Given the description of an element on the screen output the (x, y) to click on. 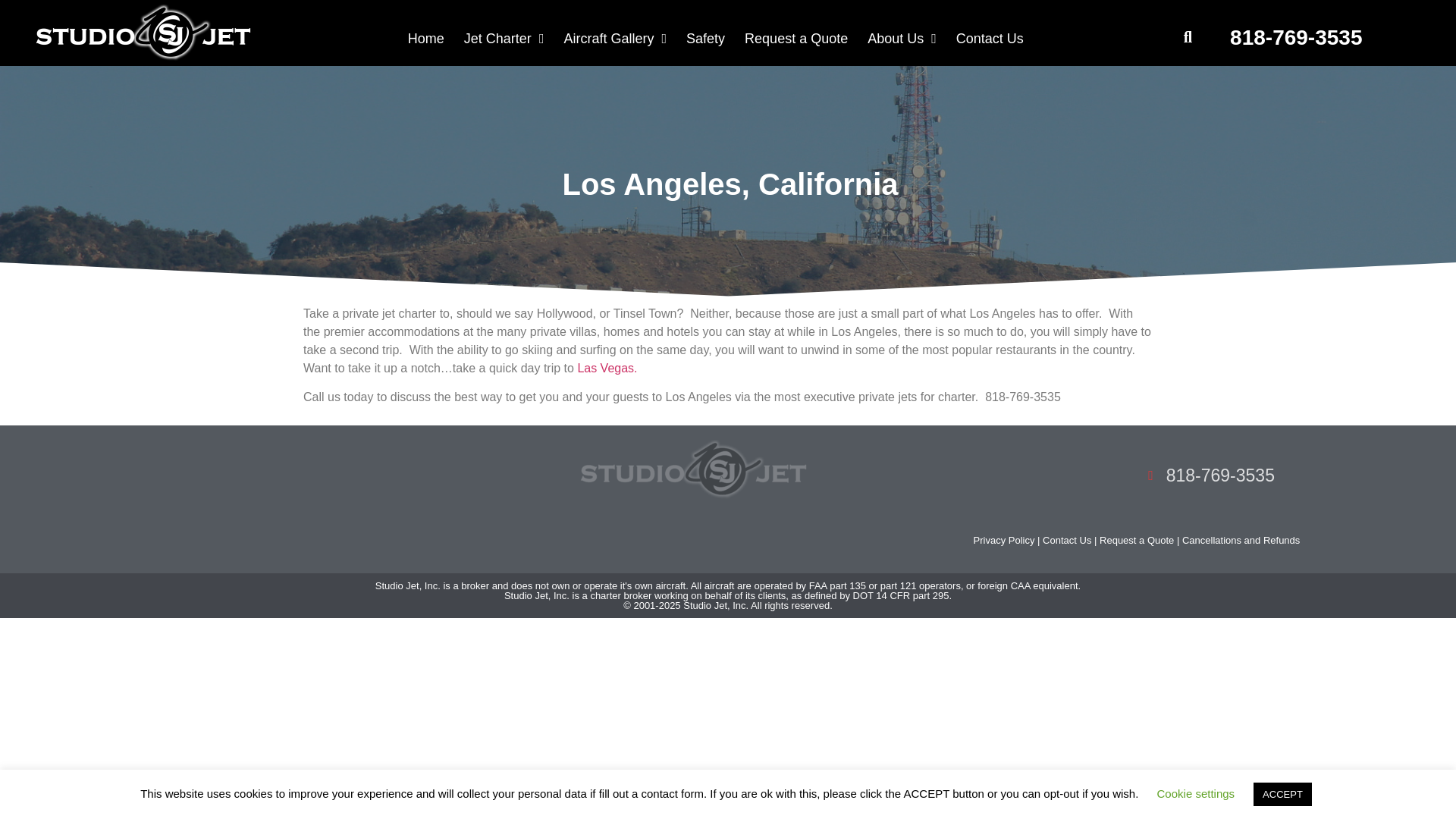
Jet Charter (504, 38)
Home (425, 38)
Aircraft Gallery (615, 38)
Las Vegas Jet Charter (606, 367)
